Given the description of an element on the screen output the (x, y) to click on. 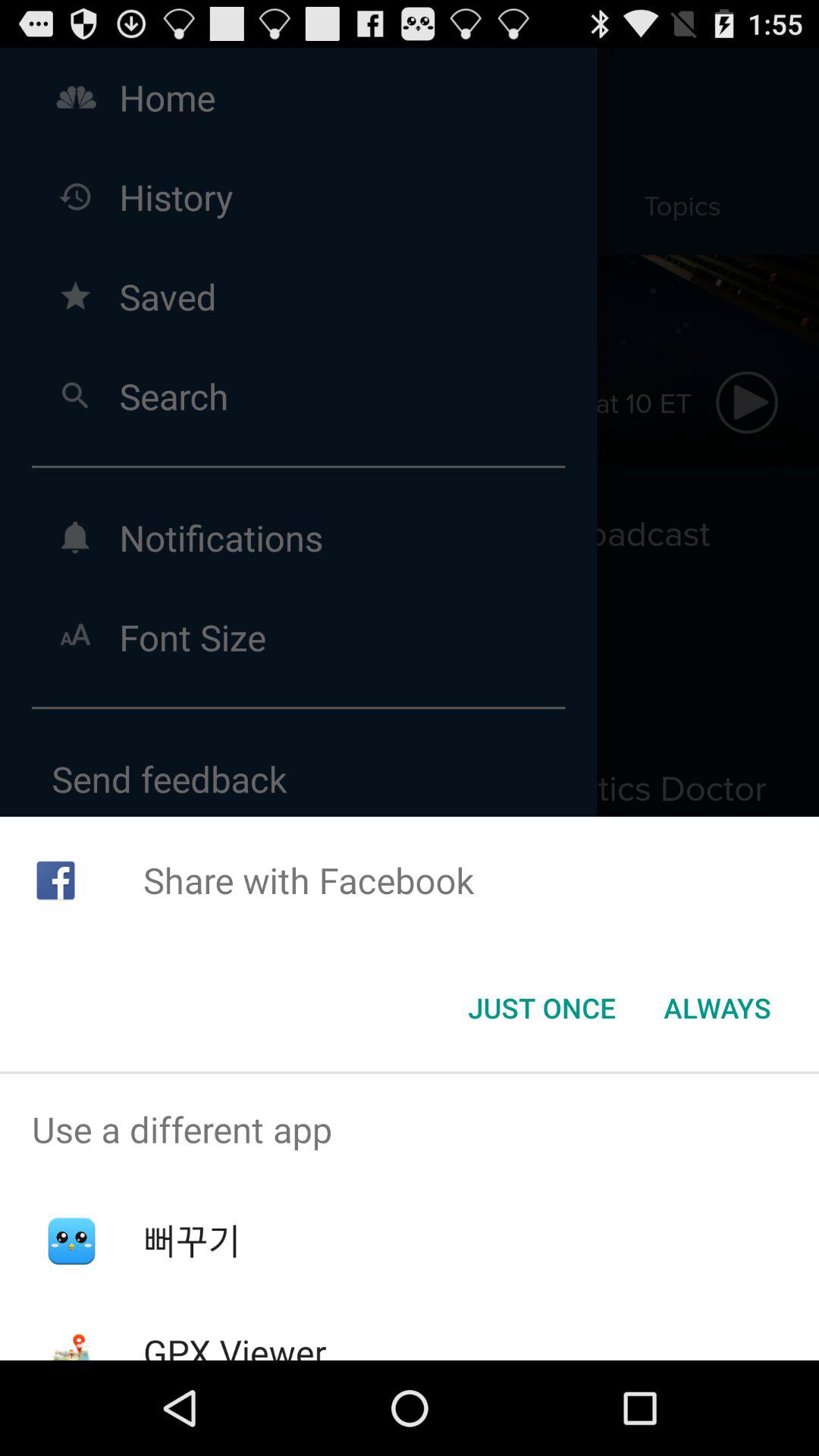
tap gpx viewer app (234, 1344)
